Given the description of an element on the screen output the (x, y) to click on. 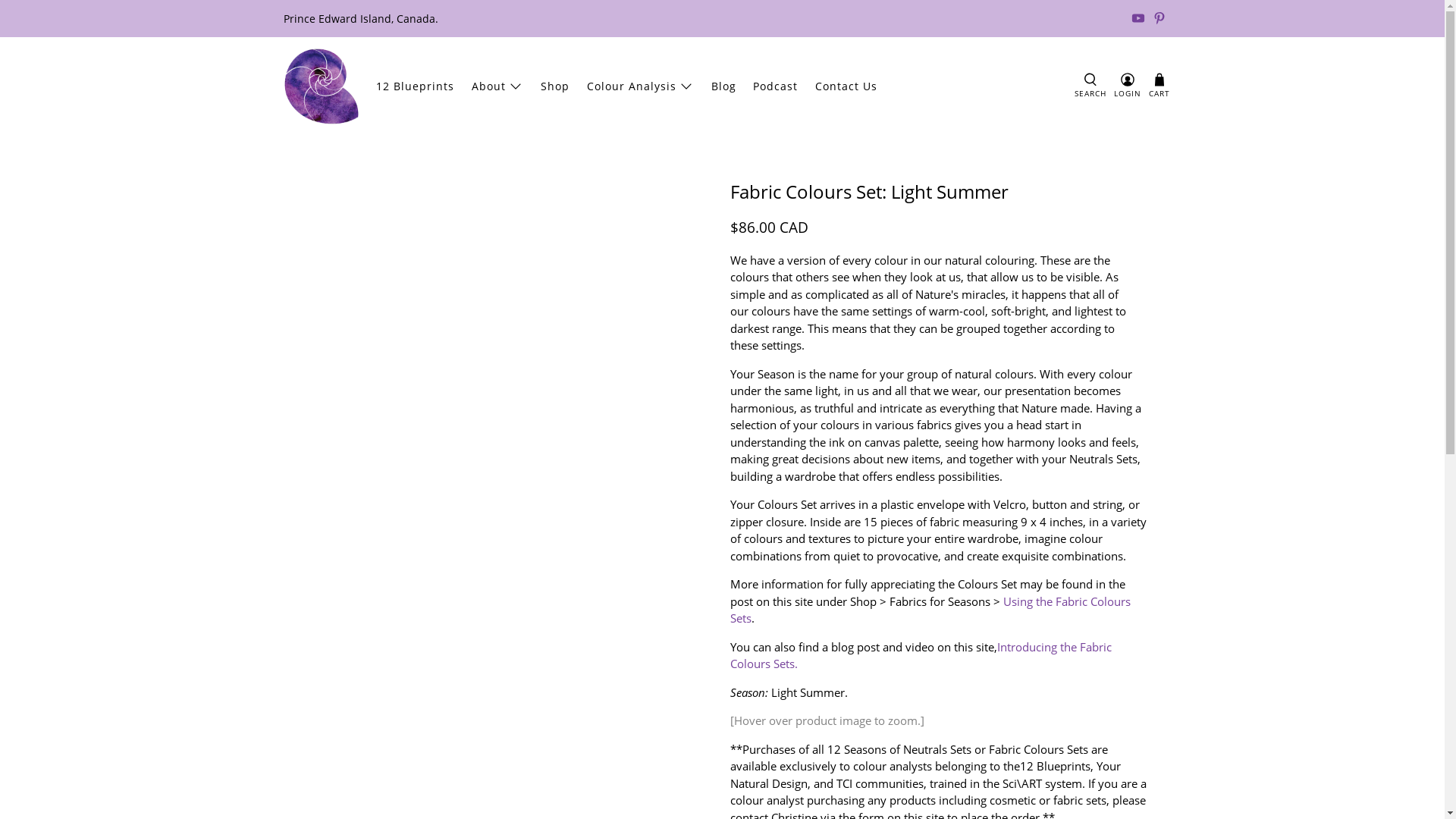
Podcast Element type: text (775, 85)
12 Blueprints Element type: hover (321, 86)
Contact Us Element type: text (846, 85)
Blog Element type: text (723, 85)
SEARCH Element type: text (1090, 86)
Shop Element type: text (555, 85)
12 Blueprints on Pinterest Element type: hover (1159, 18)
LOGIN Element type: text (1127, 86)
CART Element type: text (1158, 86)
Introducing the Fabric Colours Sets. Element type: text (919, 655)
Colour Analysis Element type: text (639, 85)
About Element type: text (496, 85)
12 Blueprints on YouTube Element type: hover (1138, 18)
Using the Fabric Colours Sets Element type: text (929, 609)
12 Blueprints Element type: text (415, 85)
